Given the description of an element on the screen output the (x, y) to click on. 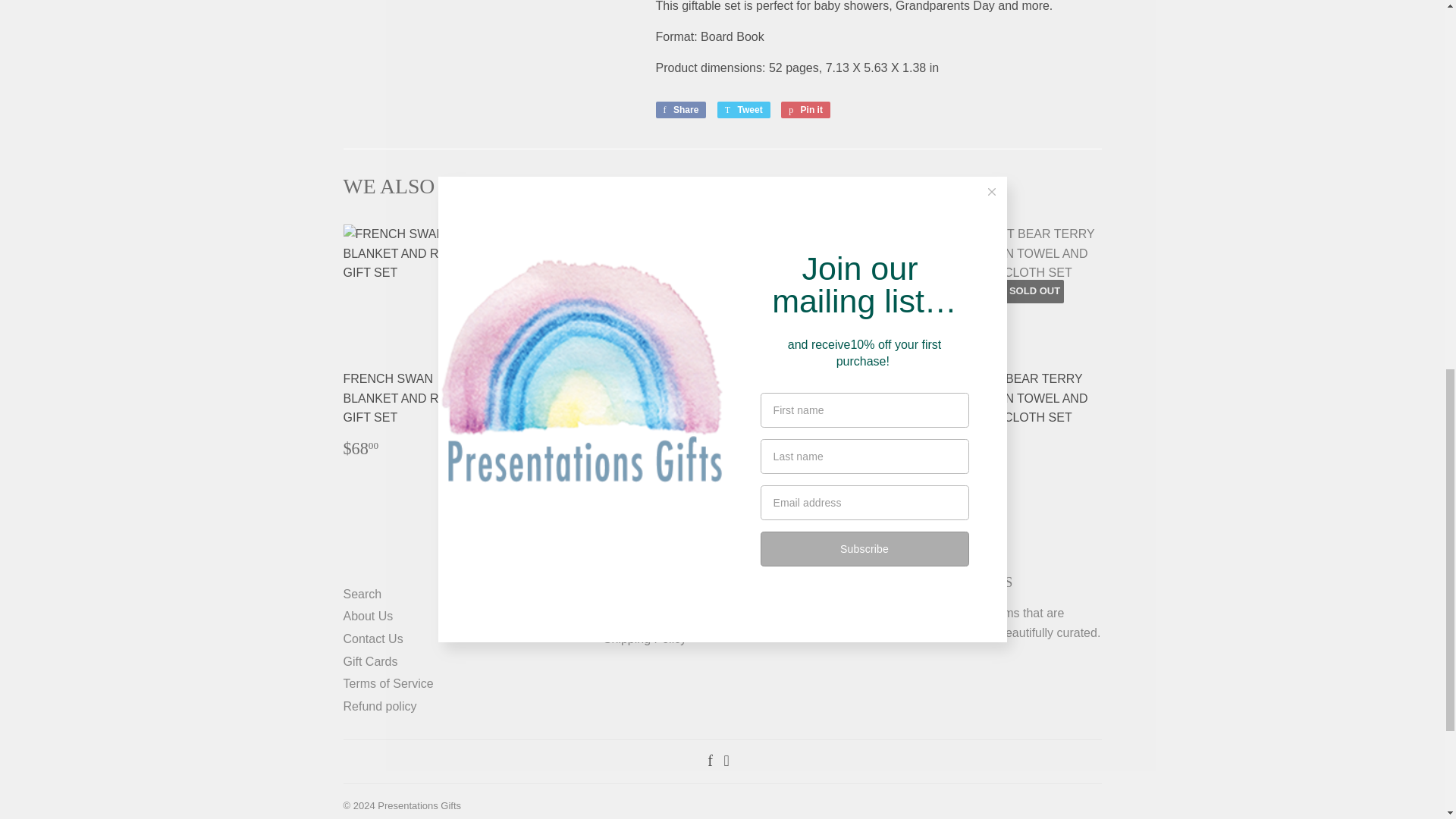
Presentations Gifts on Facebook (710, 761)
Presentations Gifts on Instagram (726, 761)
Tweet on Twitter (743, 109)
Share on Facebook (680, 109)
Pin on Pinterest (804, 109)
